Given the description of an element on the screen output the (x, y) to click on. 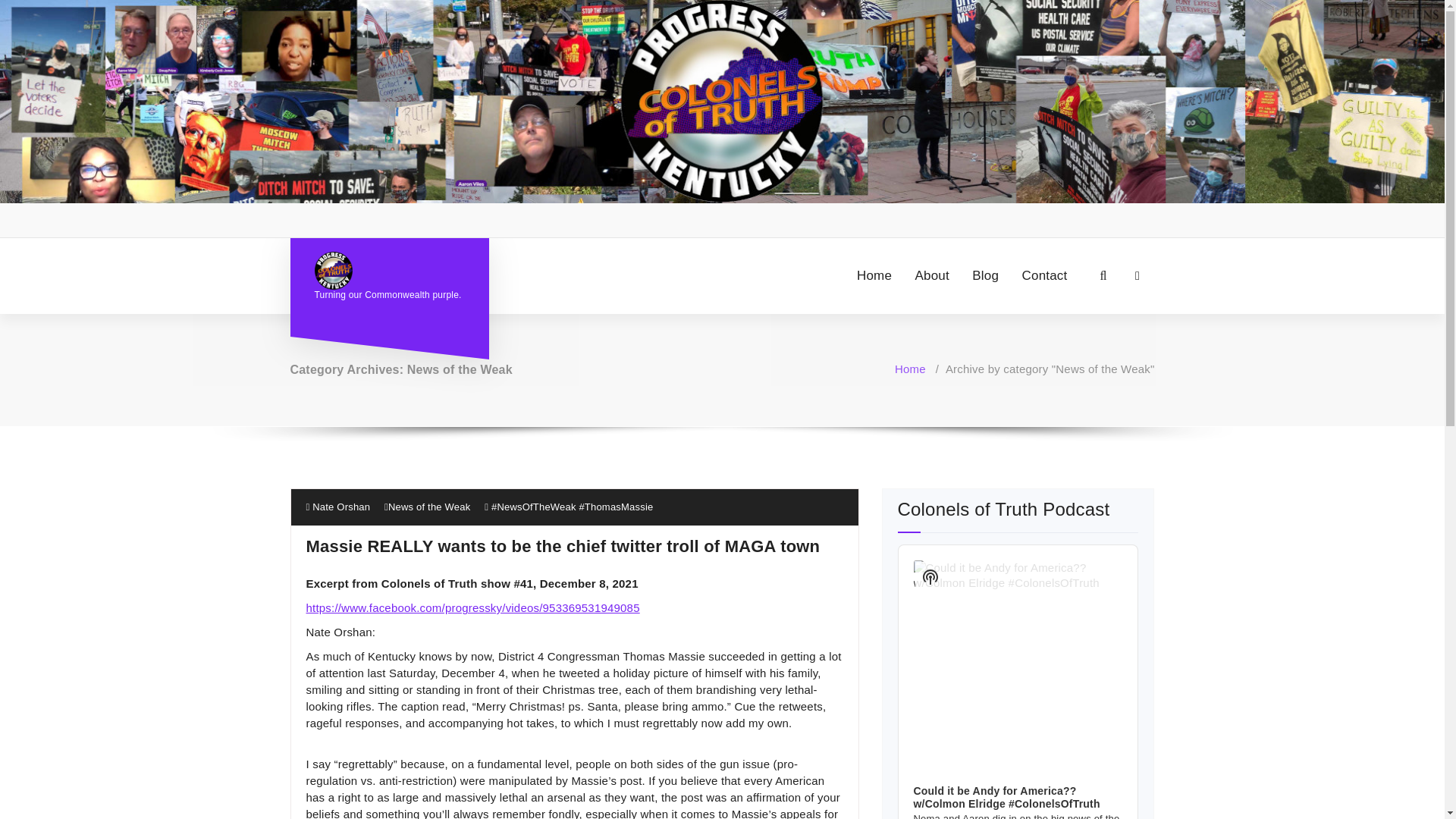
News of the Weak (429, 506)
Home (910, 368)
Nate Orshan (338, 506)
